Given the description of an element on the screen output the (x, y) to click on. 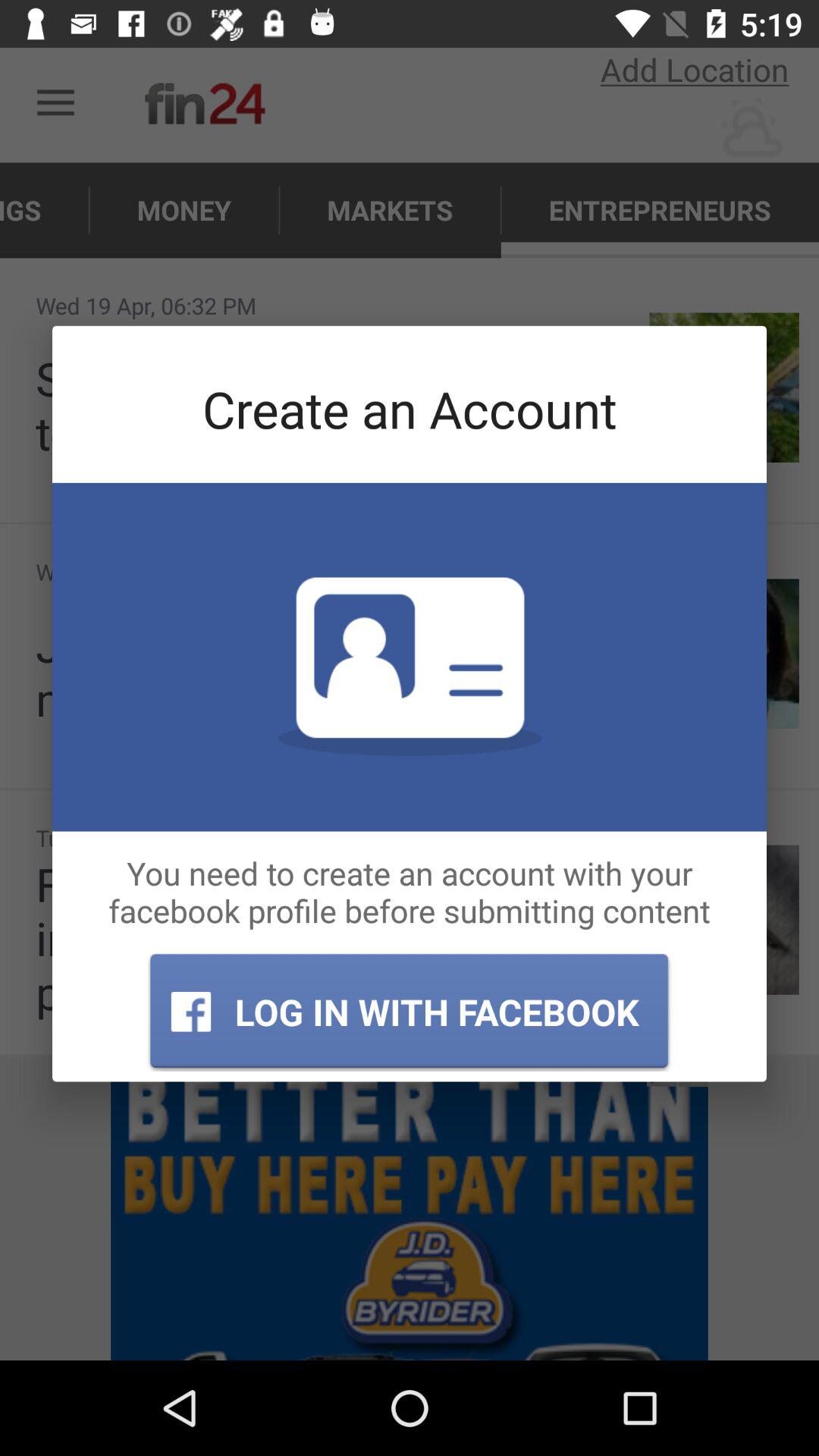
scroll to log in with (409, 1011)
